Given the description of an element on the screen output the (x, y) to click on. 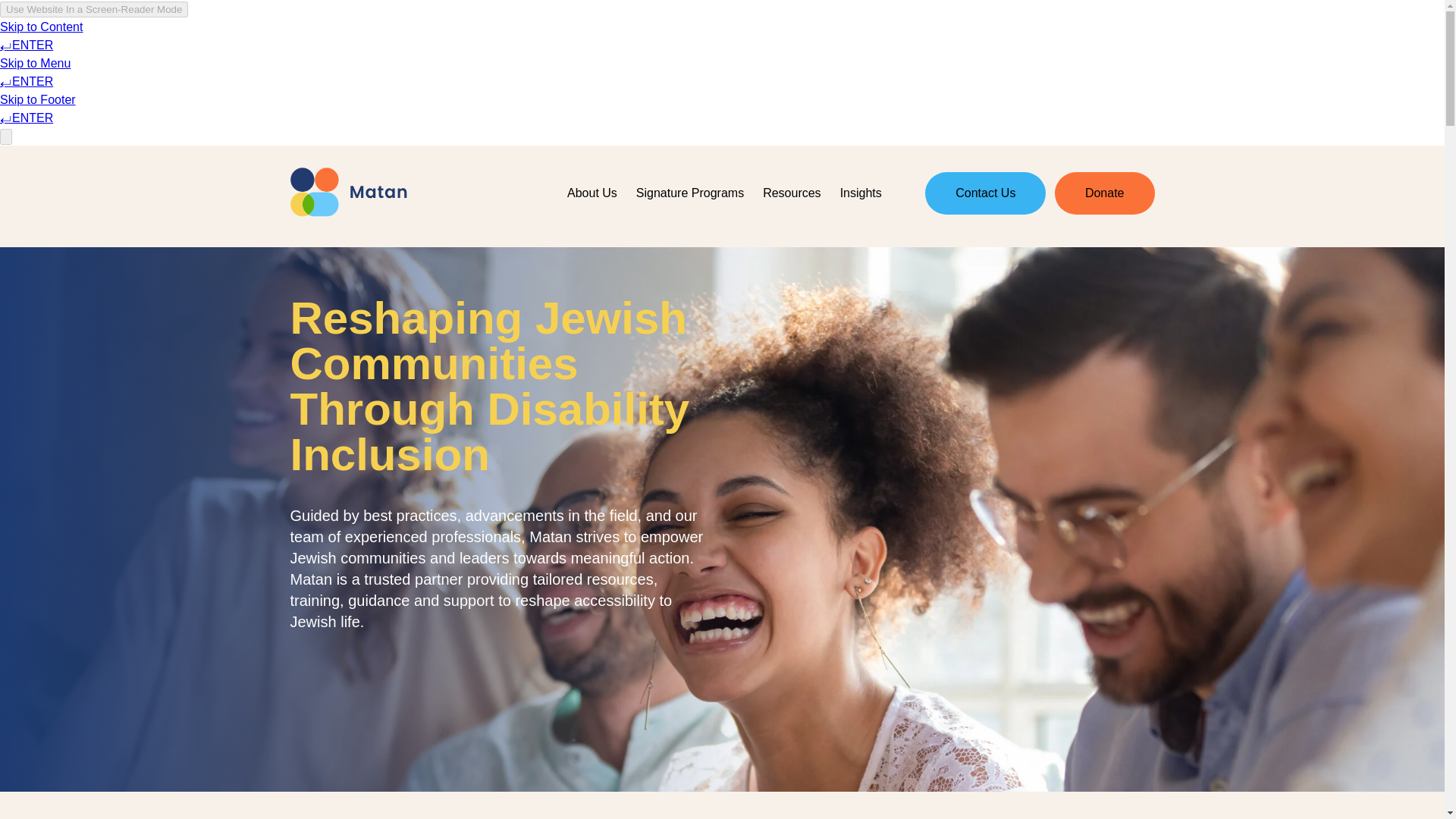
Donate (1104, 192)
Resources (791, 193)
Insights (860, 193)
Contact Us (984, 192)
About Us (592, 193)
Signature Programs (689, 193)
Matan (347, 192)
